Given the description of an element on the screen output the (x, y) to click on. 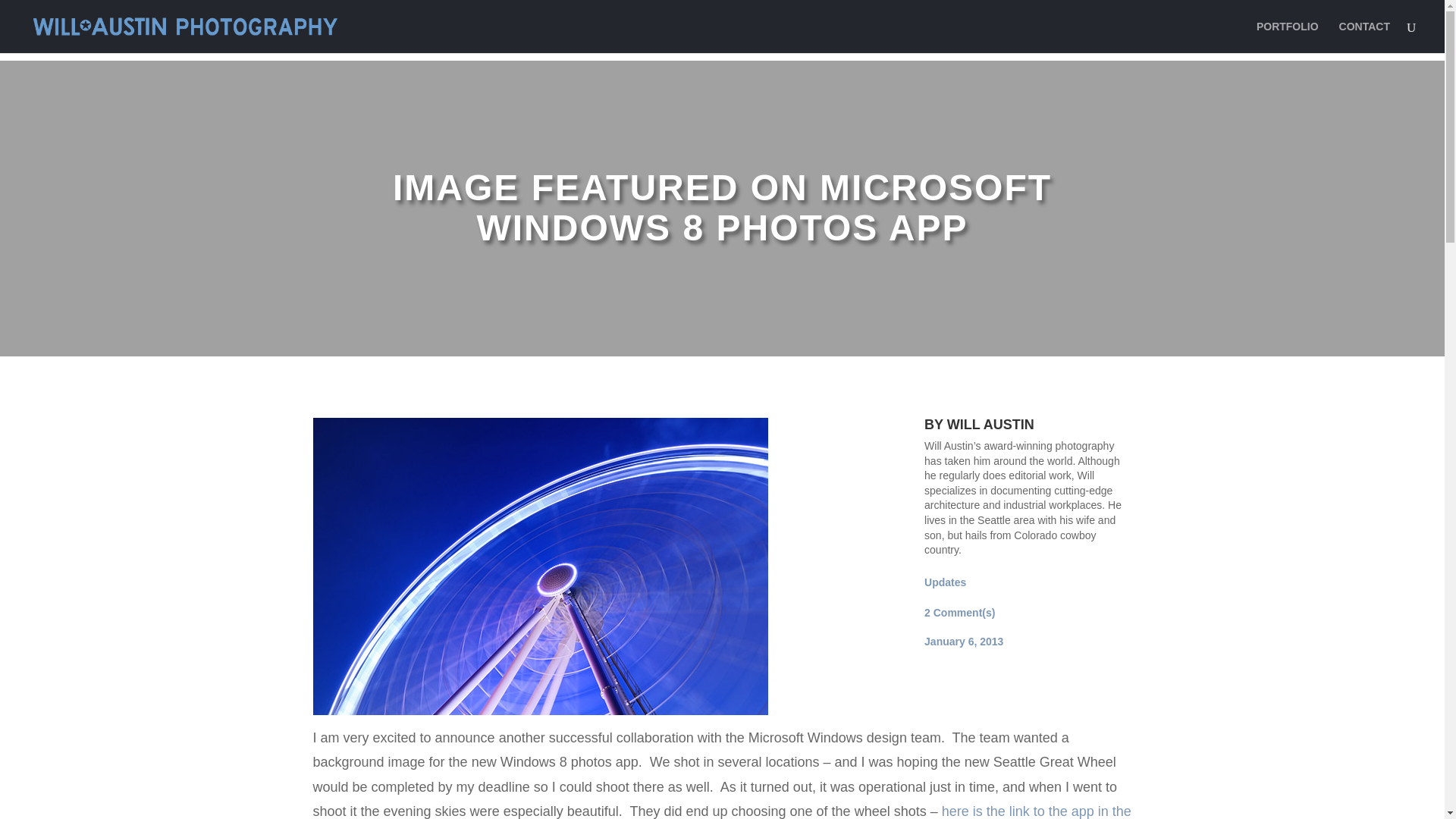
Updates (945, 582)
CONTACT (1364, 37)
PORTFOLIO (1287, 37)
here is the link to the app in the Microsoft Store. (722, 811)
Microsoft Store Photos App (722, 811)
